Given the description of an element on the screen output the (x, y) to click on. 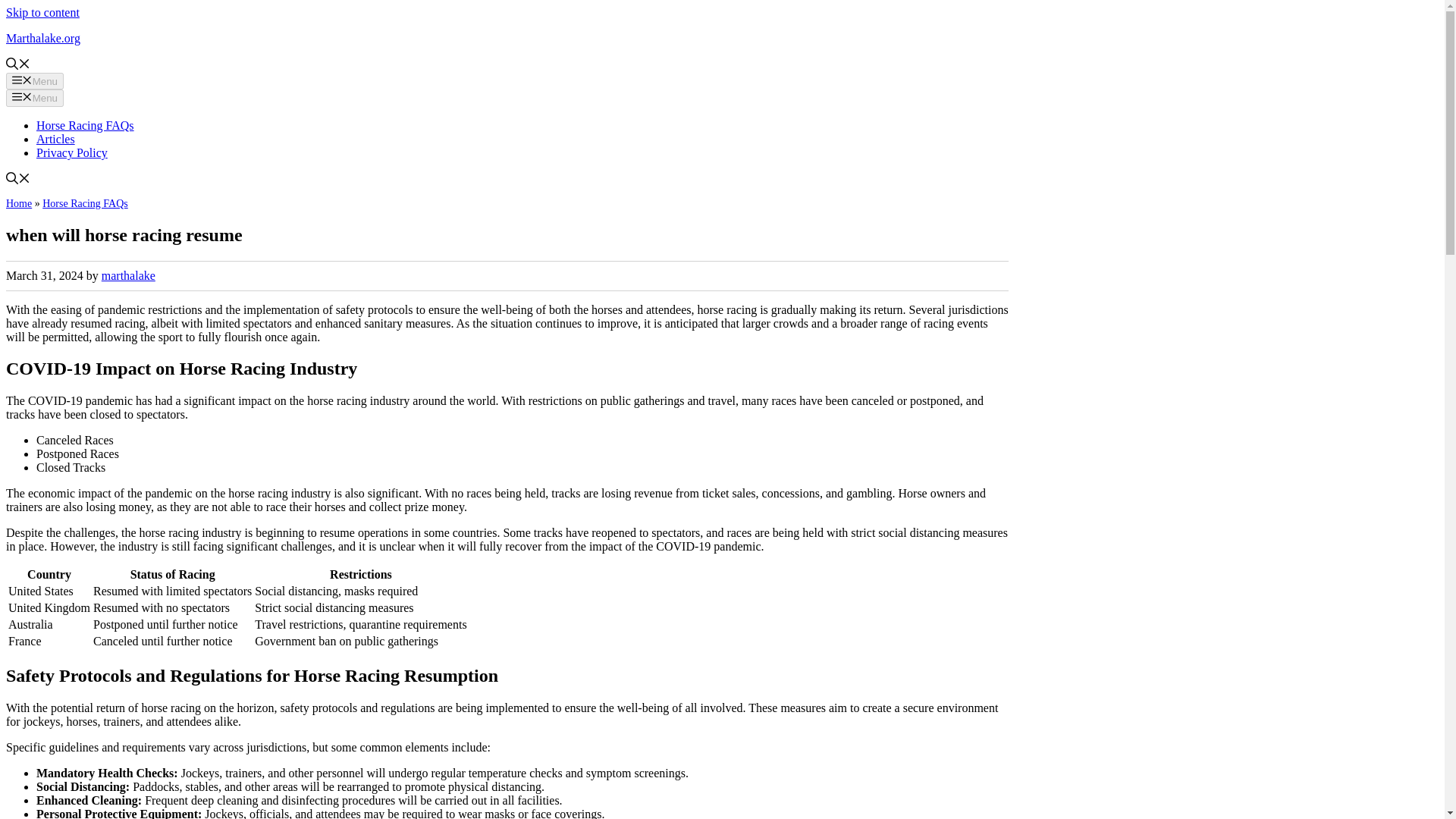
Horse Racing FAQs (85, 203)
Home (18, 203)
marthalake (128, 275)
Horse Racing FAQs (84, 124)
Marthalake.org (42, 38)
Articles (55, 138)
View all posts by marthalake (128, 275)
Menu (34, 97)
Skip to content (42, 11)
Skip to content (42, 11)
